Given the description of an element on the screen output the (x, y) to click on. 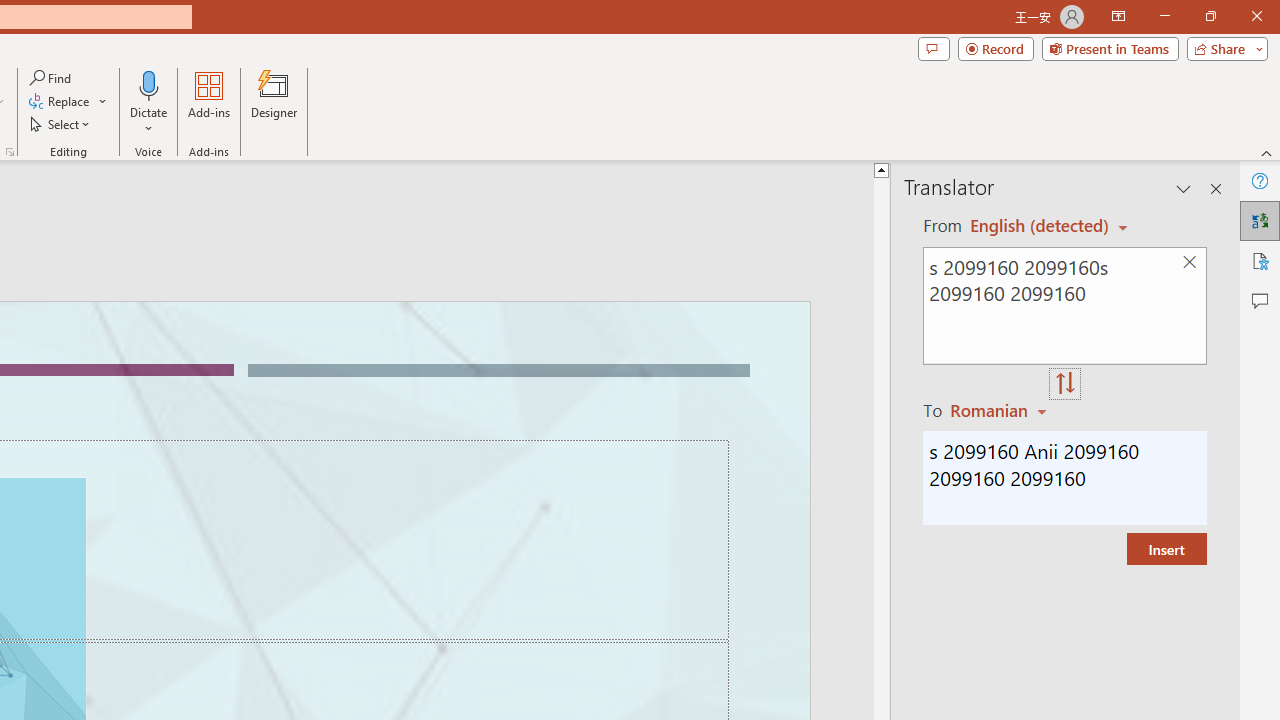
Czech (detected) (1039, 225)
